Given the description of an element on the screen output the (x, y) to click on. 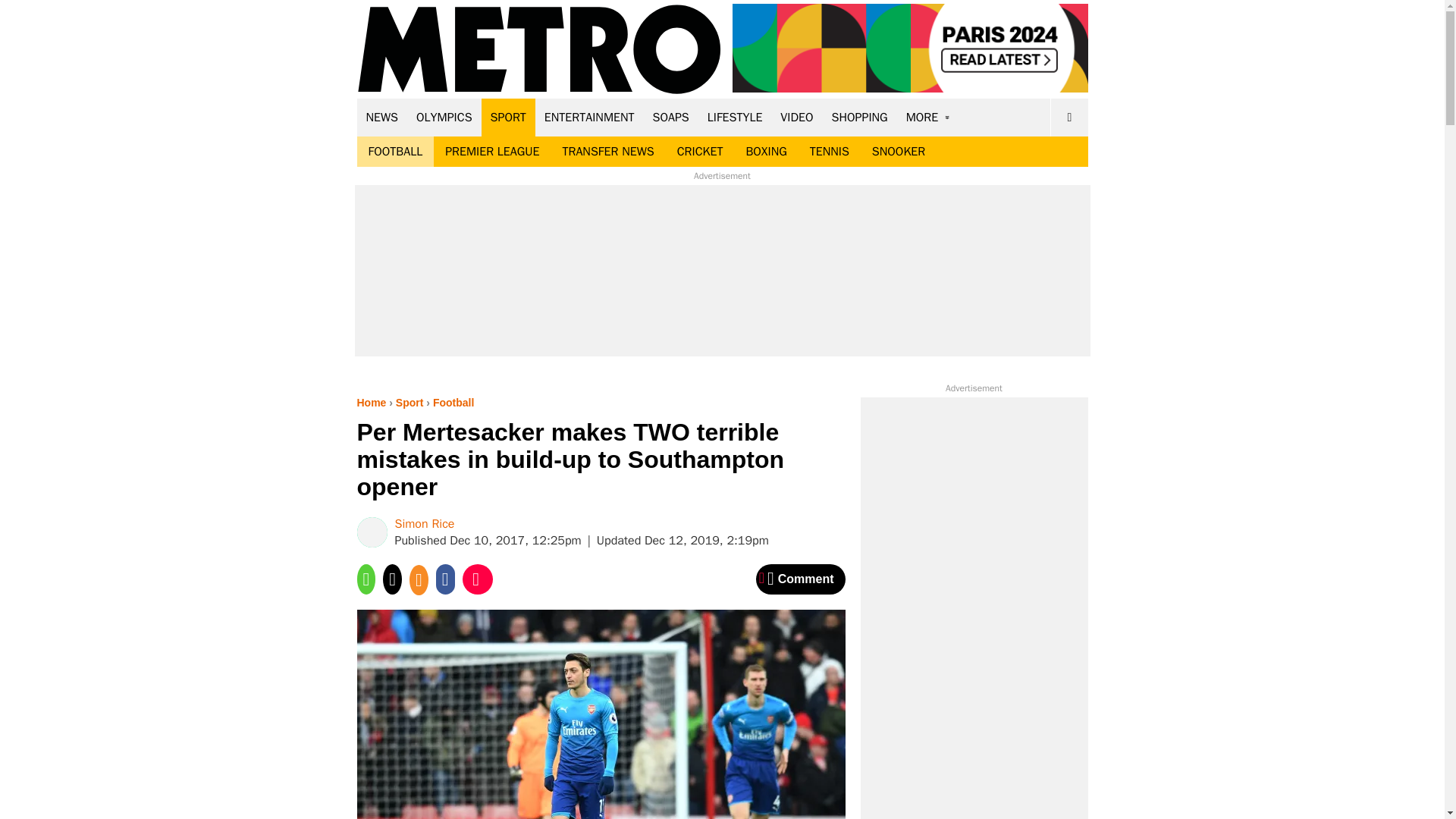
Metro (539, 50)
LIFESTYLE (734, 117)
SOAPS (670, 117)
ENTERTAINMENT (589, 117)
OLYMPICS (444, 117)
TENNIS (828, 151)
CRICKET (700, 151)
TRANSFER NEWS (607, 151)
SPORT (508, 117)
NEWS (381, 117)
PREMIER LEAGUE (491, 151)
FOOTBALL (394, 151)
SNOOKER (898, 151)
BOXING (765, 151)
